Given the description of an element on the screen output the (x, y) to click on. 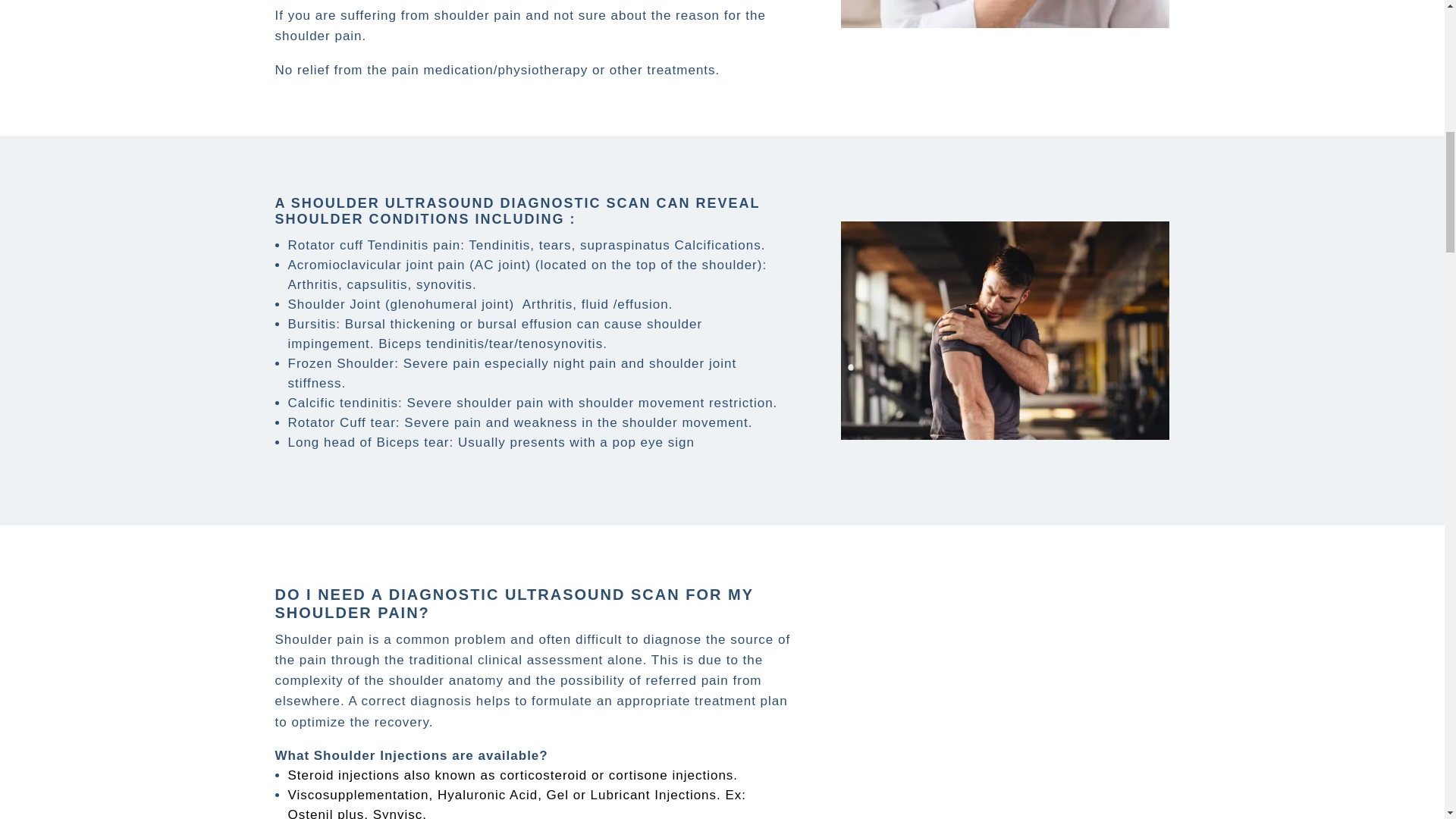
Shoulder Pain Treatment Edgbaston (1005, 435)
private shoulder pain treatment Edgbaston (1005, 23)
